Given the description of an element on the screen output the (x, y) to click on. 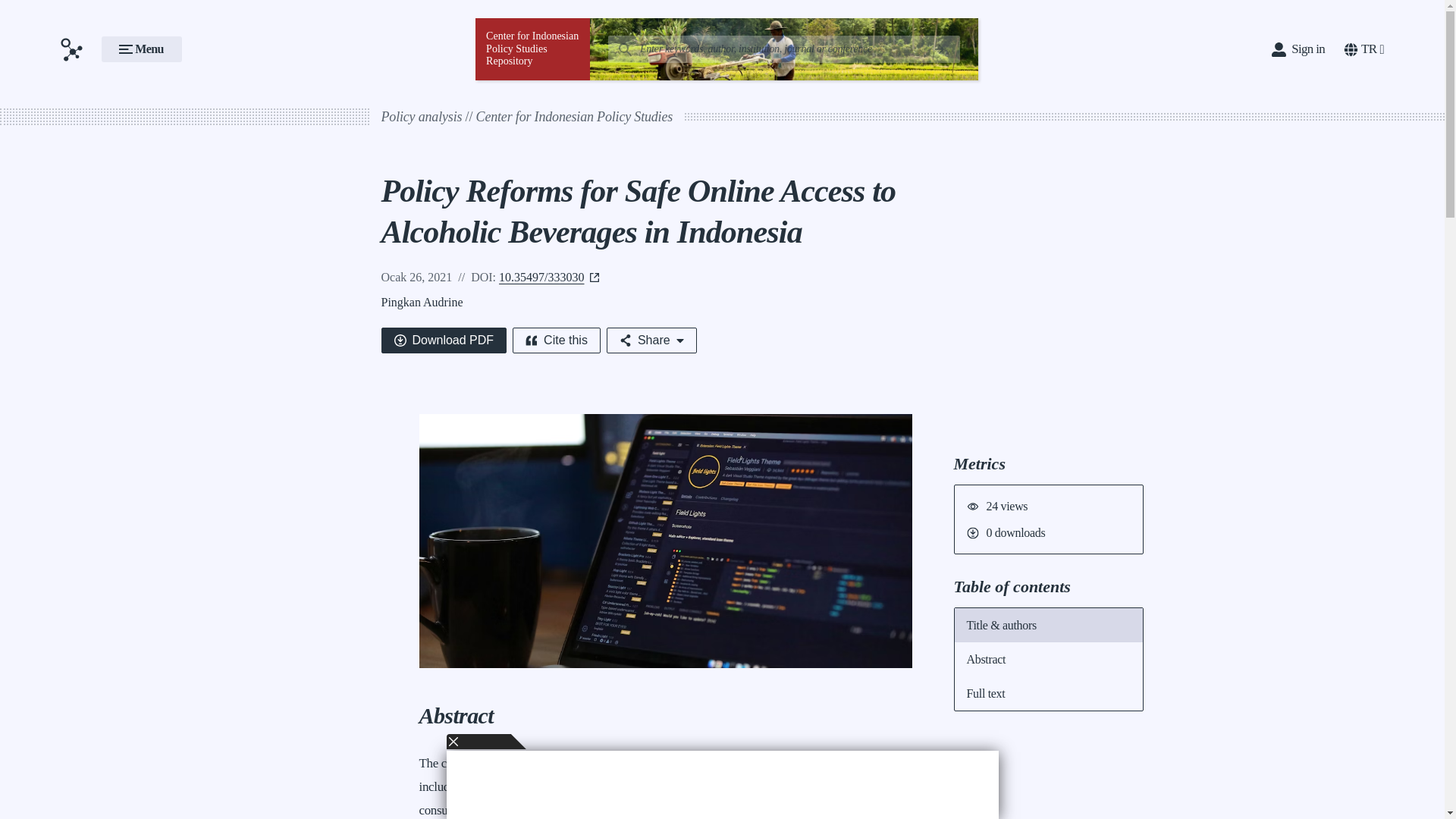
Cite this (555, 339)
Sign in (1297, 49)
Center for Indonesian Policy Studies Repository (532, 49)
Menu (141, 49)
TR (1363, 49)
Download PDF (443, 339)
Think tank in Jakarta, Endonezya (574, 116)
Center for Indonesian Policy Studies (574, 116)
